Given the description of an element on the screen output the (x, y) to click on. 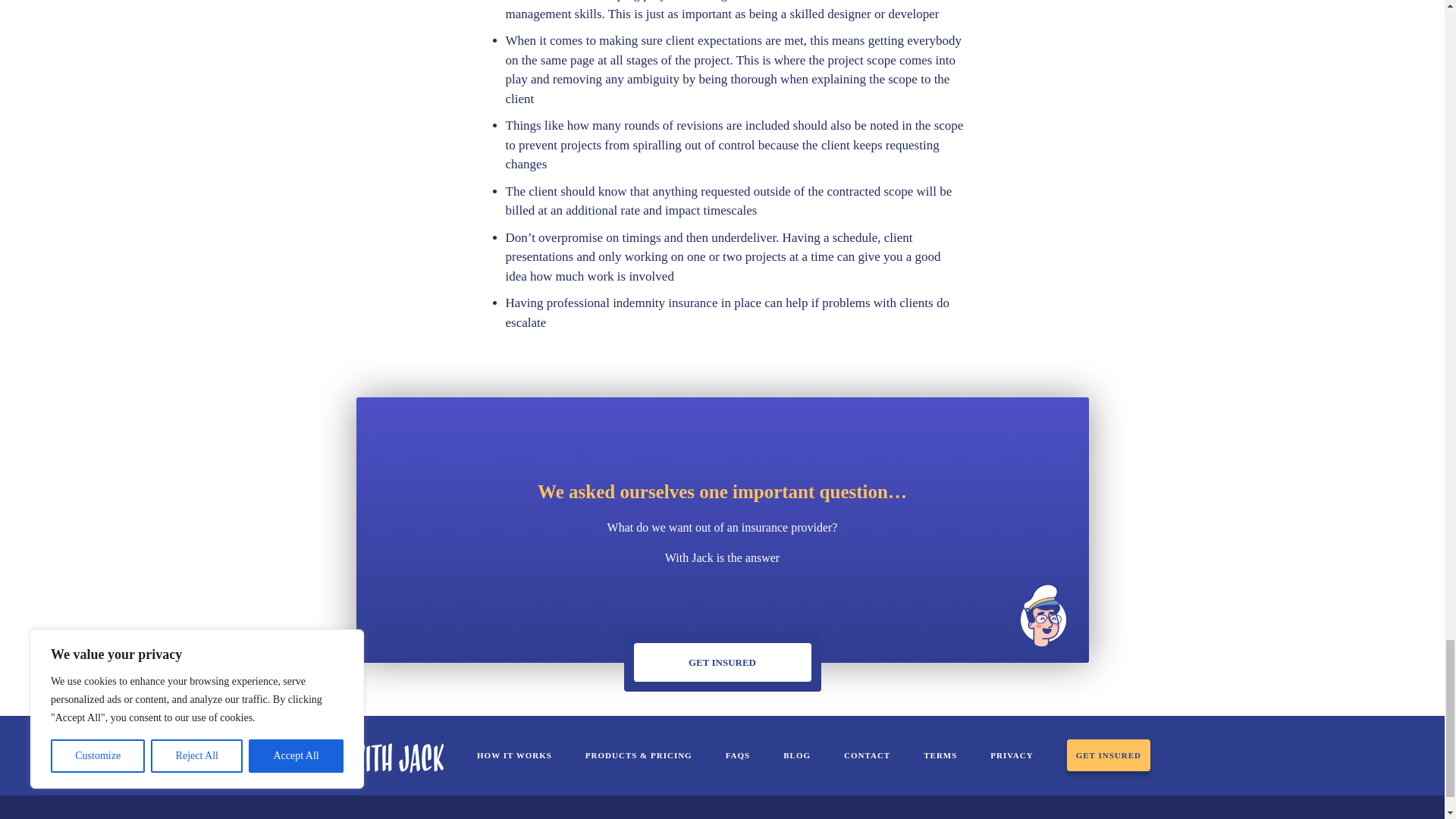
GET INSURED (721, 662)
